Given the description of an element on the screen output the (x, y) to click on. 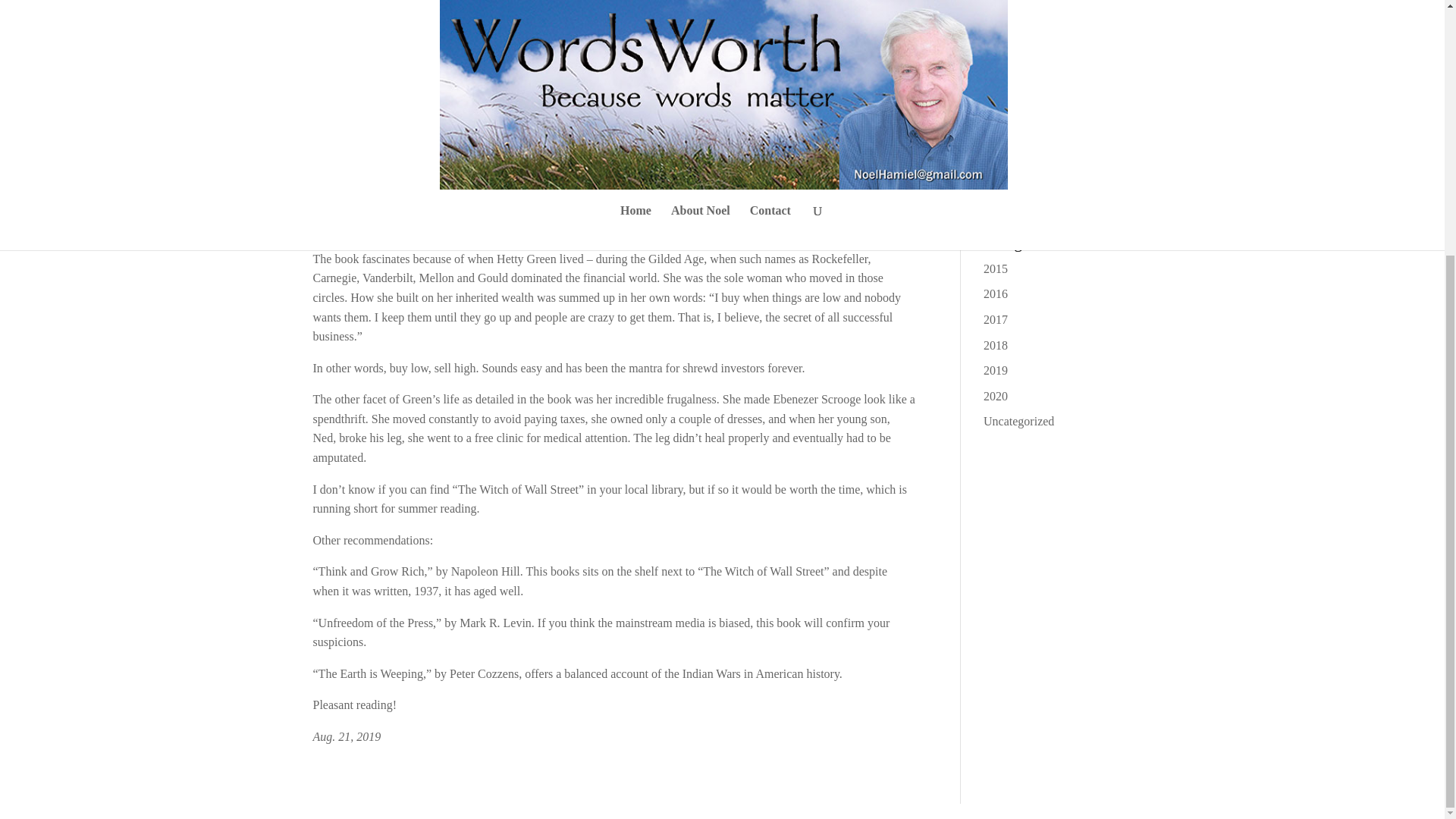
2015 (995, 268)
Nov. 11 is special day for all of us (1053, 101)
2020 (995, 395)
2016 (995, 293)
2019 (995, 369)
Family marks 100th opening day hunt (1053, 190)
Uncategorized (1019, 420)
Mrs. Cadwell: A great teacher (1056, 65)
Halloween candy poll is suspicious (1042, 145)
2018 (995, 345)
